Given the description of an element on the screen output the (x, y) to click on. 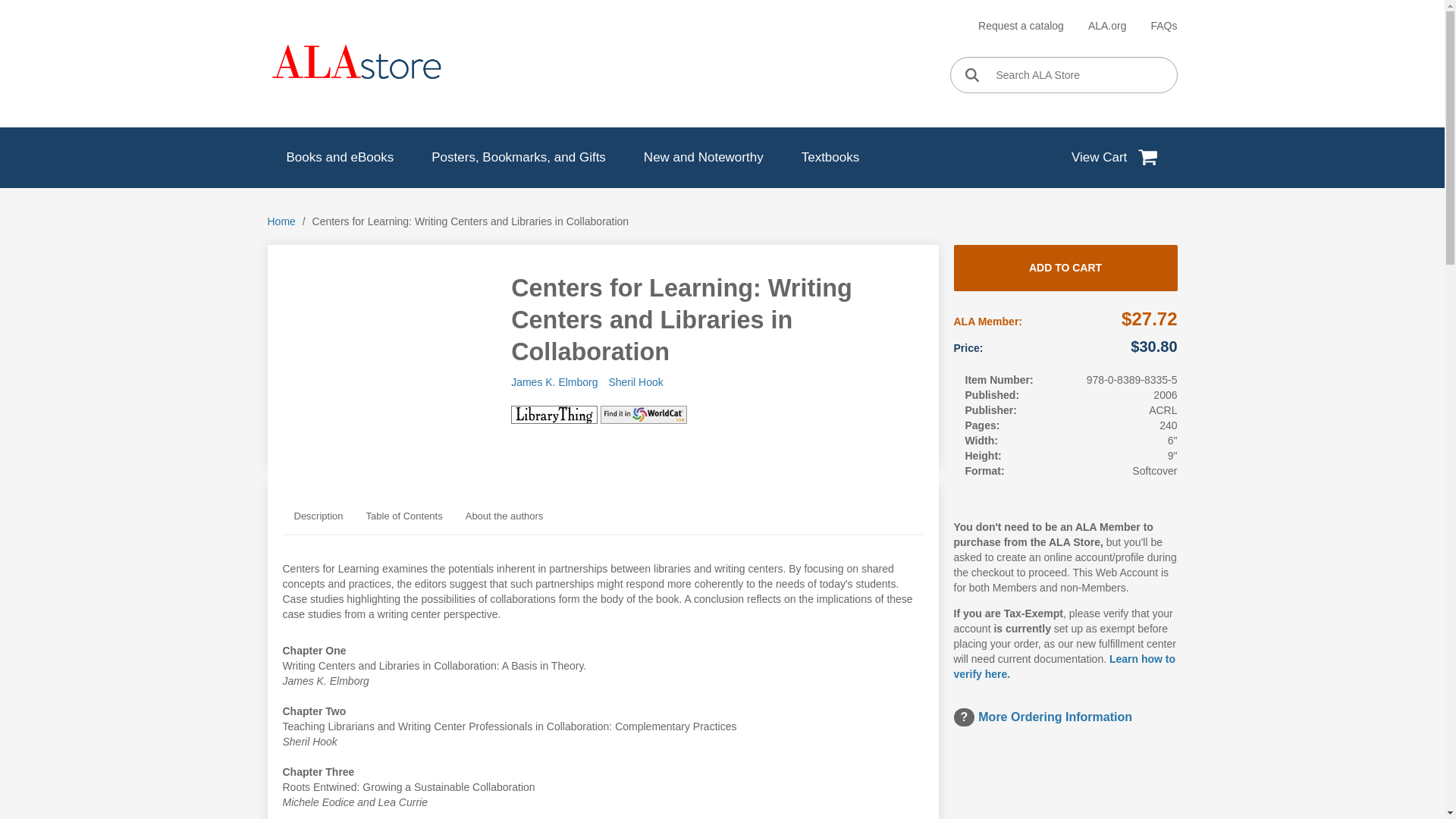
New and Noteworthy (703, 157)
Textbooks (831, 157)
ALA.org (1106, 25)
Skip to main content (722, 1)
View Cart (1114, 157)
FAQs (1163, 25)
Books and eBooks (339, 157)
Posters, Bookmarks, and Gifts (518, 157)
Search ALA Store (1062, 74)
Request a catalog (1021, 25)
